Given the description of an element on the screen output the (x, y) to click on. 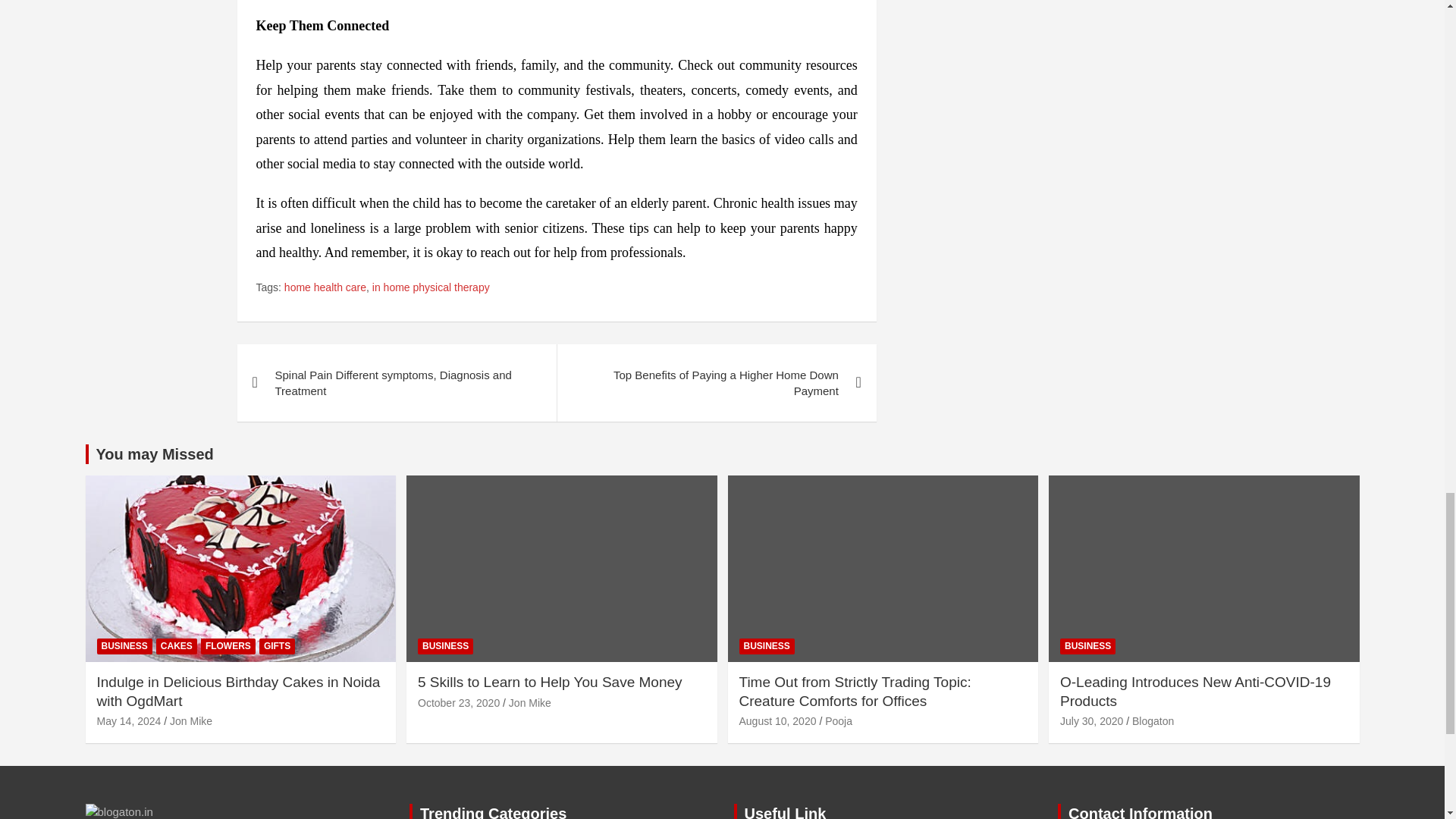
O-Leading Introduces New Anti-COVID-19 Products (1090, 720)
5 Skills to Learn to Help You Save Money (458, 702)
Indulge in Delicious Birthday Cakes in Noida with OgdMart (129, 720)
